Given the description of an element on the screen output the (x, y) to click on. 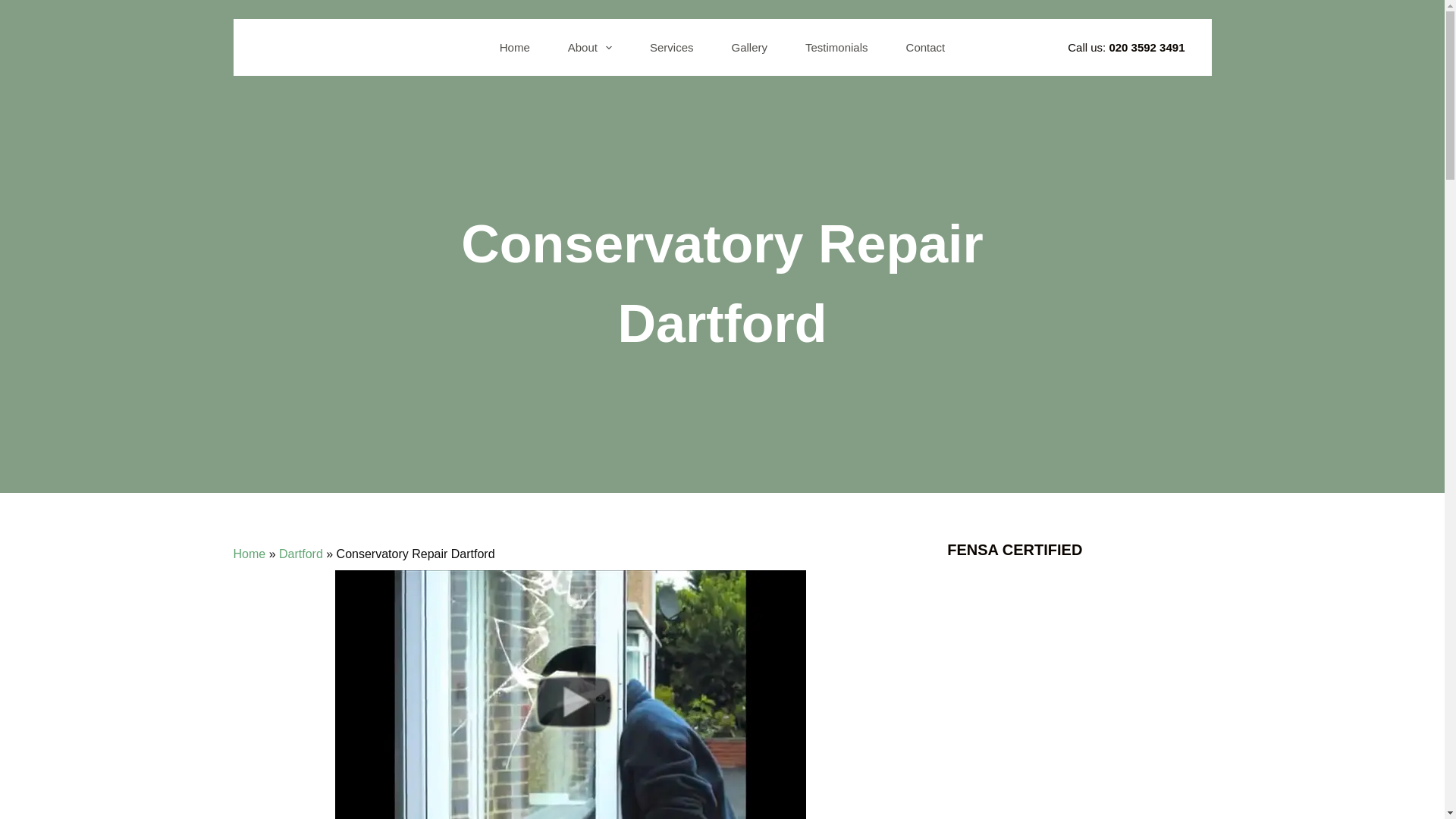
Conservatory Repair Dartford (722, 283)
Contact (924, 47)
Conservatory Repair Dartford (570, 694)
Home (249, 553)
Dartford (301, 553)
Skip to content (15, 7)
Testimonials (836, 47)
Dartford (301, 553)
020 3592 3491 (1146, 47)
